Given the description of an element on the screen output the (x, y) to click on. 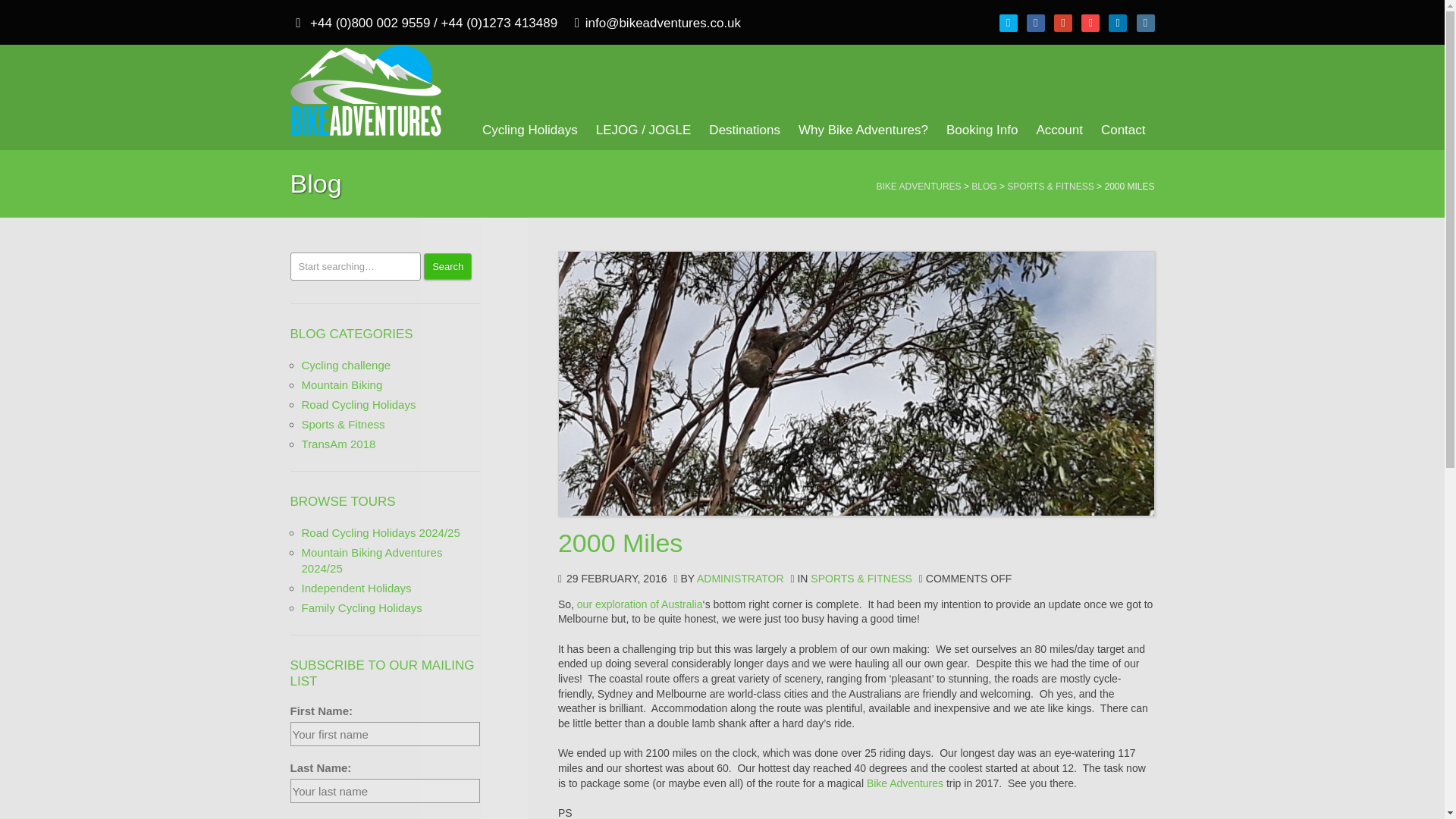
Search (447, 266)
Cycling Holidays (529, 129)
Go to Blog. (983, 185)
Posts by Administrator (740, 578)
Go to Bike Adventures. (918, 185)
Destinations (744, 129)
Search (447, 266)
Bike Adventures (365, 92)
Why Bike Adventures? (863, 129)
